Given the description of an element on the screen output the (x, y) to click on. 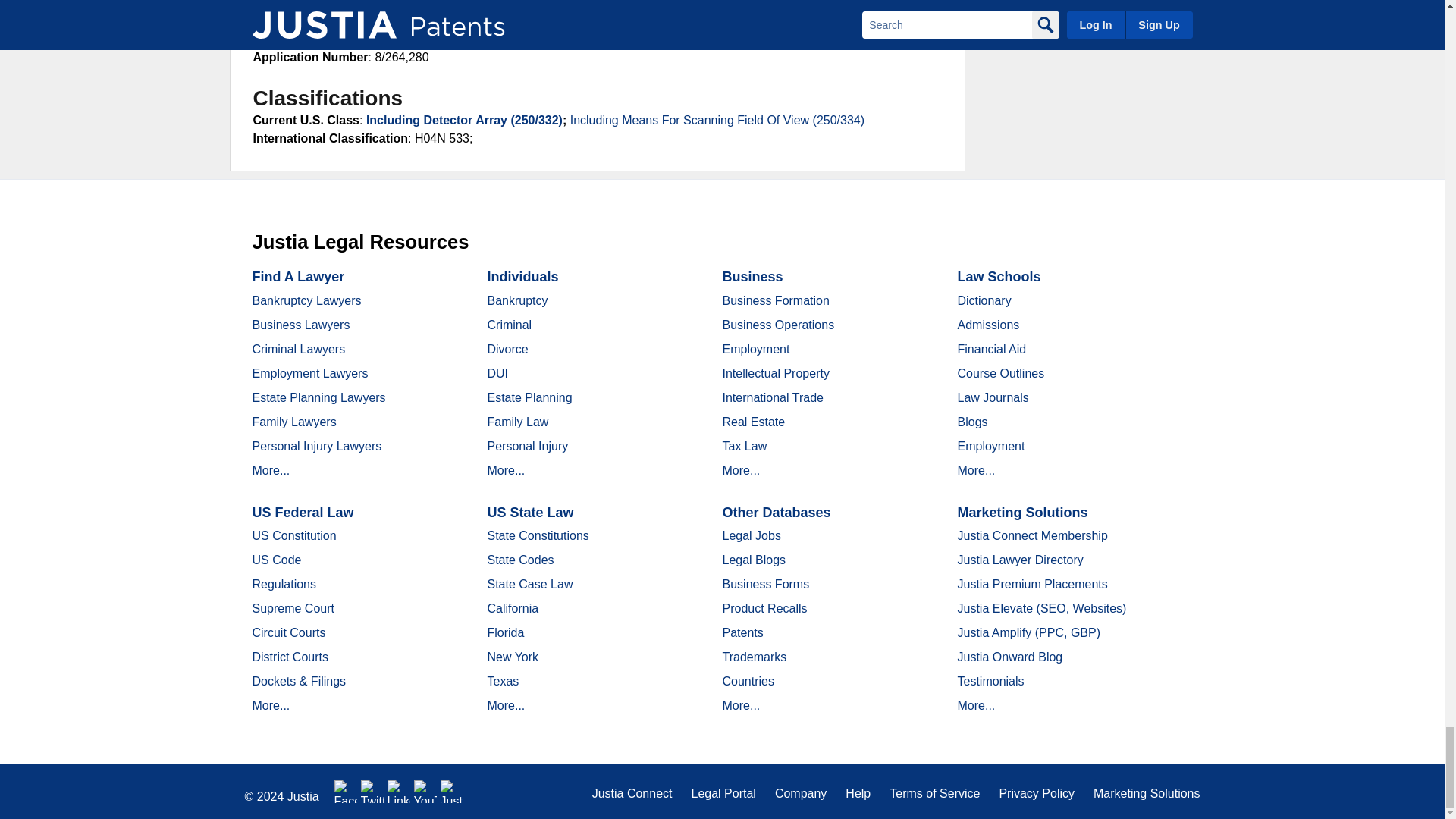
Facebook (345, 791)
YouTube (424, 791)
LinkedIn (398, 791)
Twitter (372, 791)
Justia Lawyer Directory (452, 791)
